Given the description of an element on the screen output the (x, y) to click on. 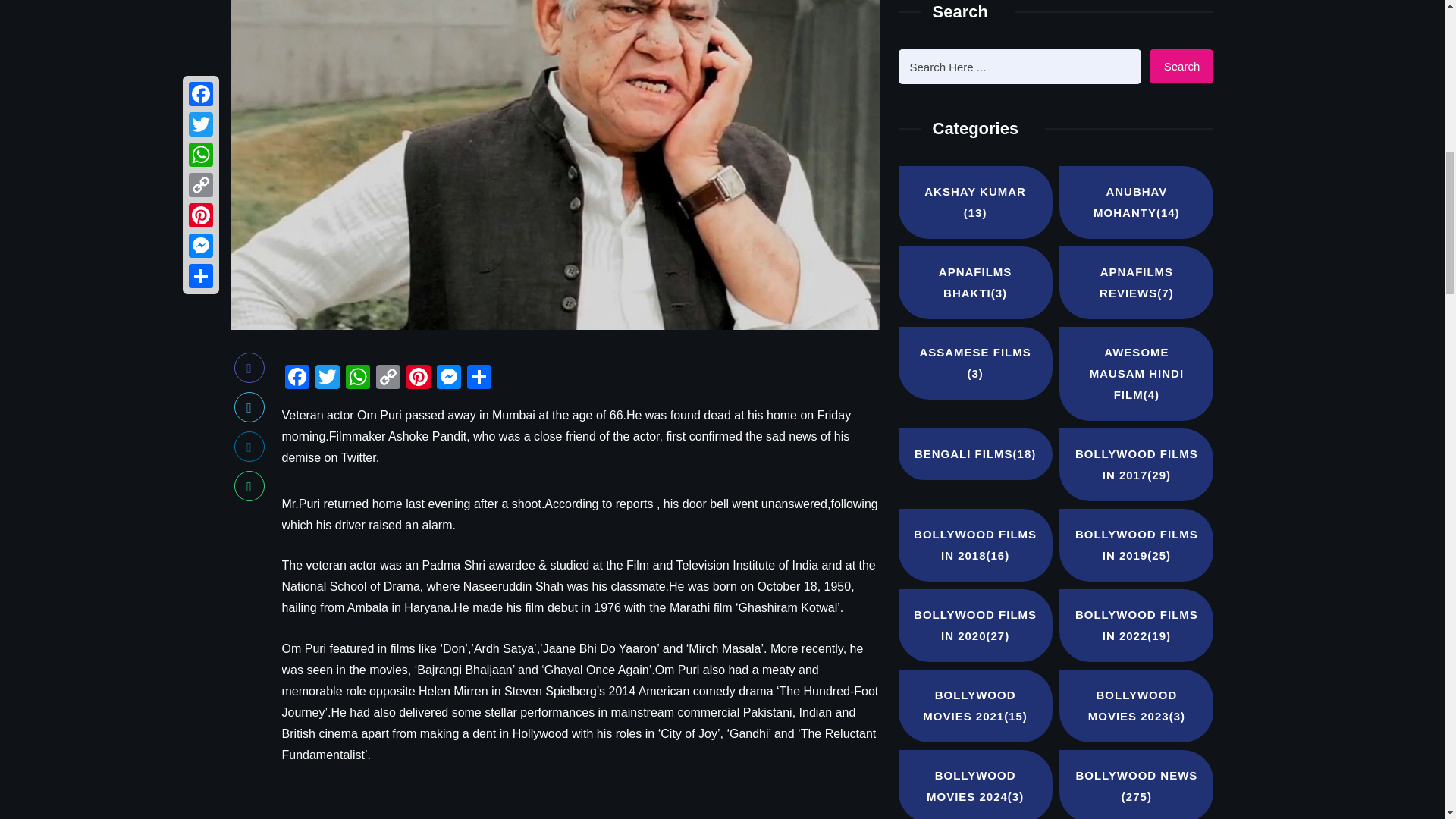
Copy Link (387, 378)
WhatsApp (357, 378)
Pinterest (418, 378)
Messenger (448, 378)
Facebook (297, 378)
Twitter (327, 378)
